Given the description of an element on the screen output the (x, y) to click on. 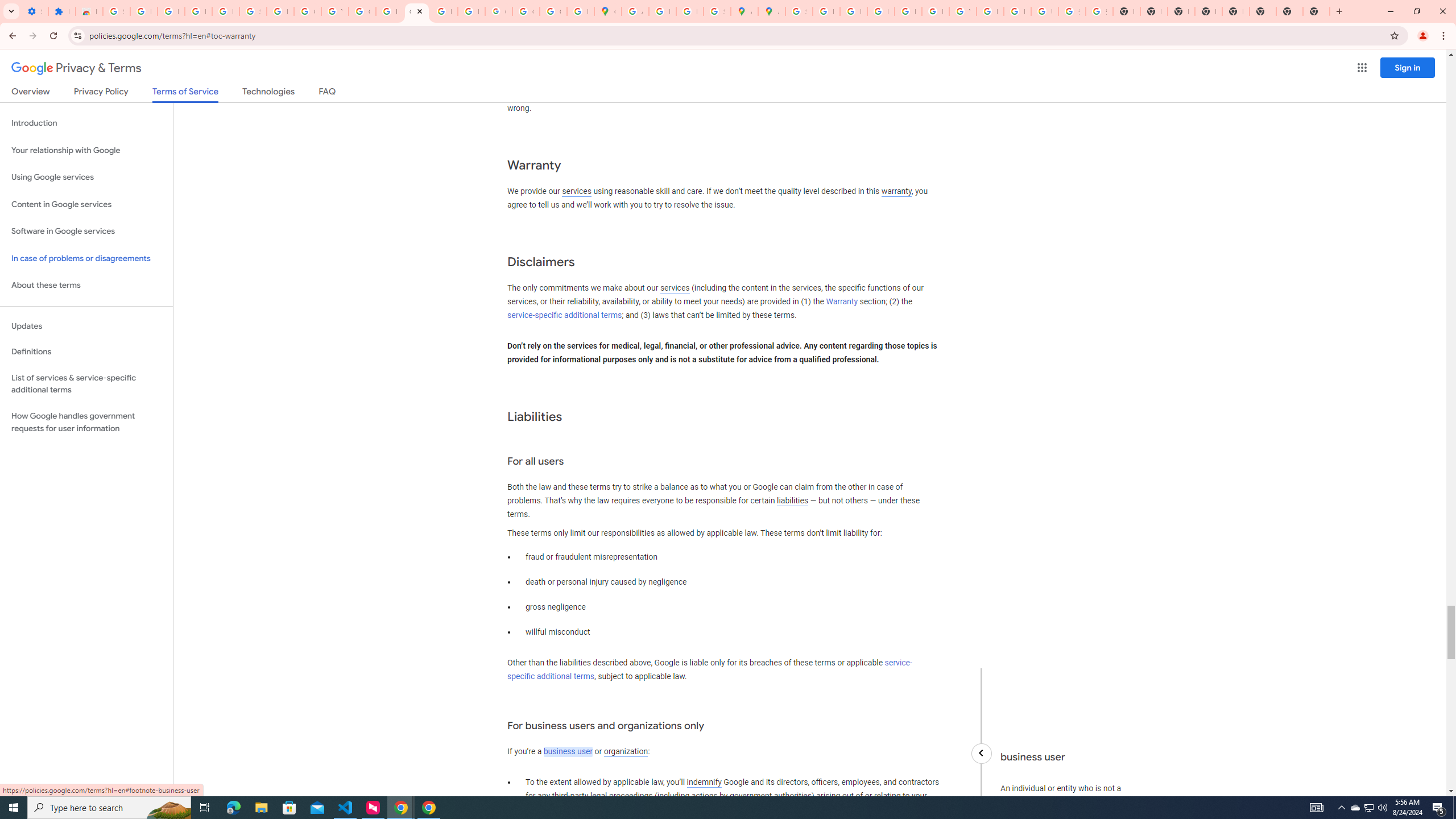
services (674, 288)
Software in Google services (86, 230)
In case of problems or disagreements (86, 258)
About these terms (86, 284)
Your relationship with Google (86, 150)
How Google handles government requests for user information (86, 422)
organization (624, 751)
